Given the description of an element on the screen output the (x, y) to click on. 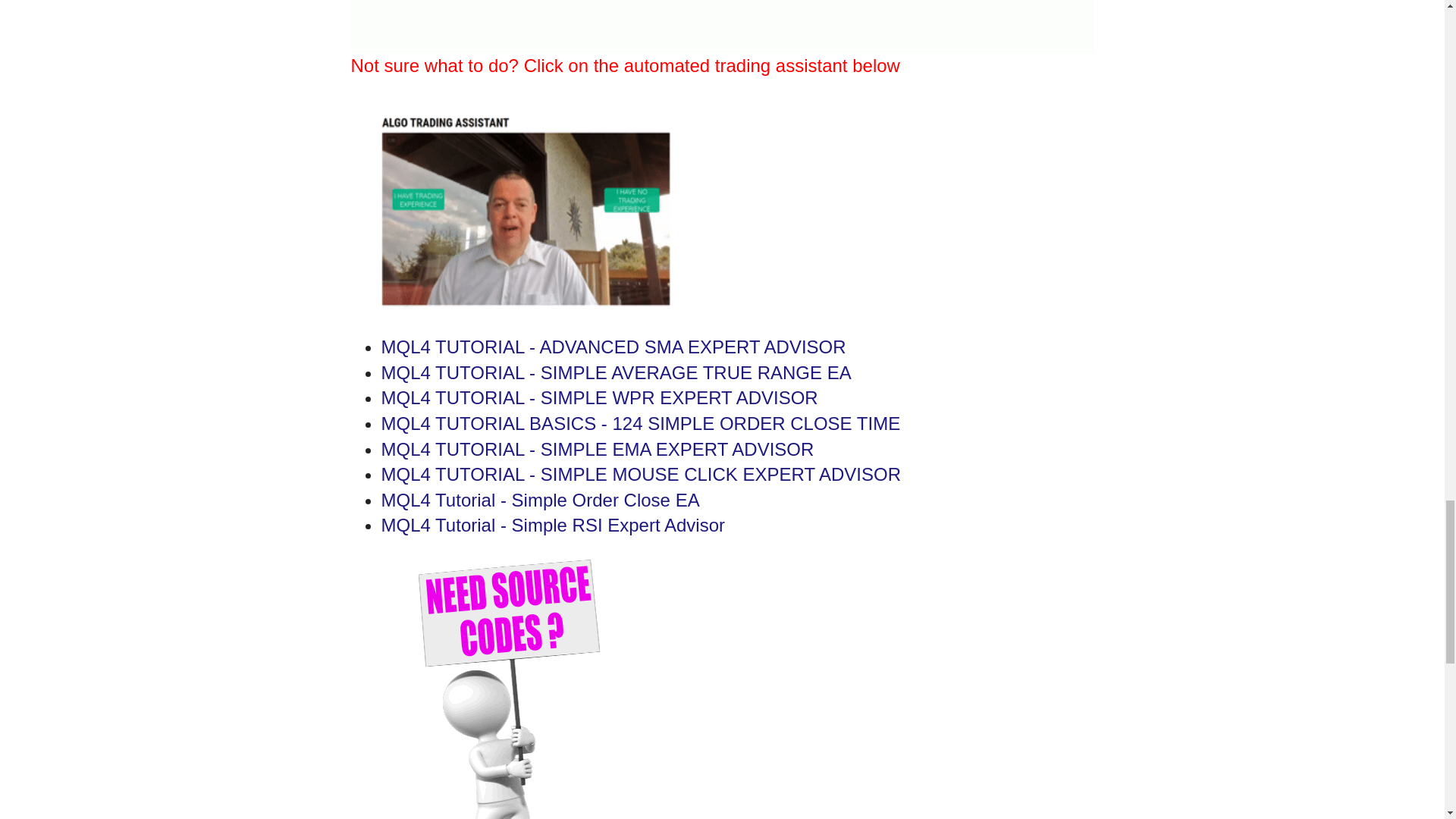
MQL4 TUTORIAL - SIMPLE WPR EXPERT ADVISOR (598, 397)
MQL4 TUTORIAL BASICS - 124 SIMPLE ORDER CLOSE TIME (639, 423)
MQL4 Tutorial - Simple RSI Expert Advisor (552, 525)
MQL4 TUTORIAL - SIMPLE MOUSE CLICK EXPERT ADVISOR (640, 474)
MQL4 TUTORIAL - SIMPLE EMA EXPERT ADVISOR (596, 448)
MQL4 TUTORIAL - ADVANCED SMA EXPERT ADVISOR (612, 346)
MQL4 Tutorial - Simple Order Close EA (539, 499)
MQL4 TUTORIAL - SIMPLE AVERAGE TRUE RANGE EA (615, 372)
